Given the description of an element on the screen output the (x, y) to click on. 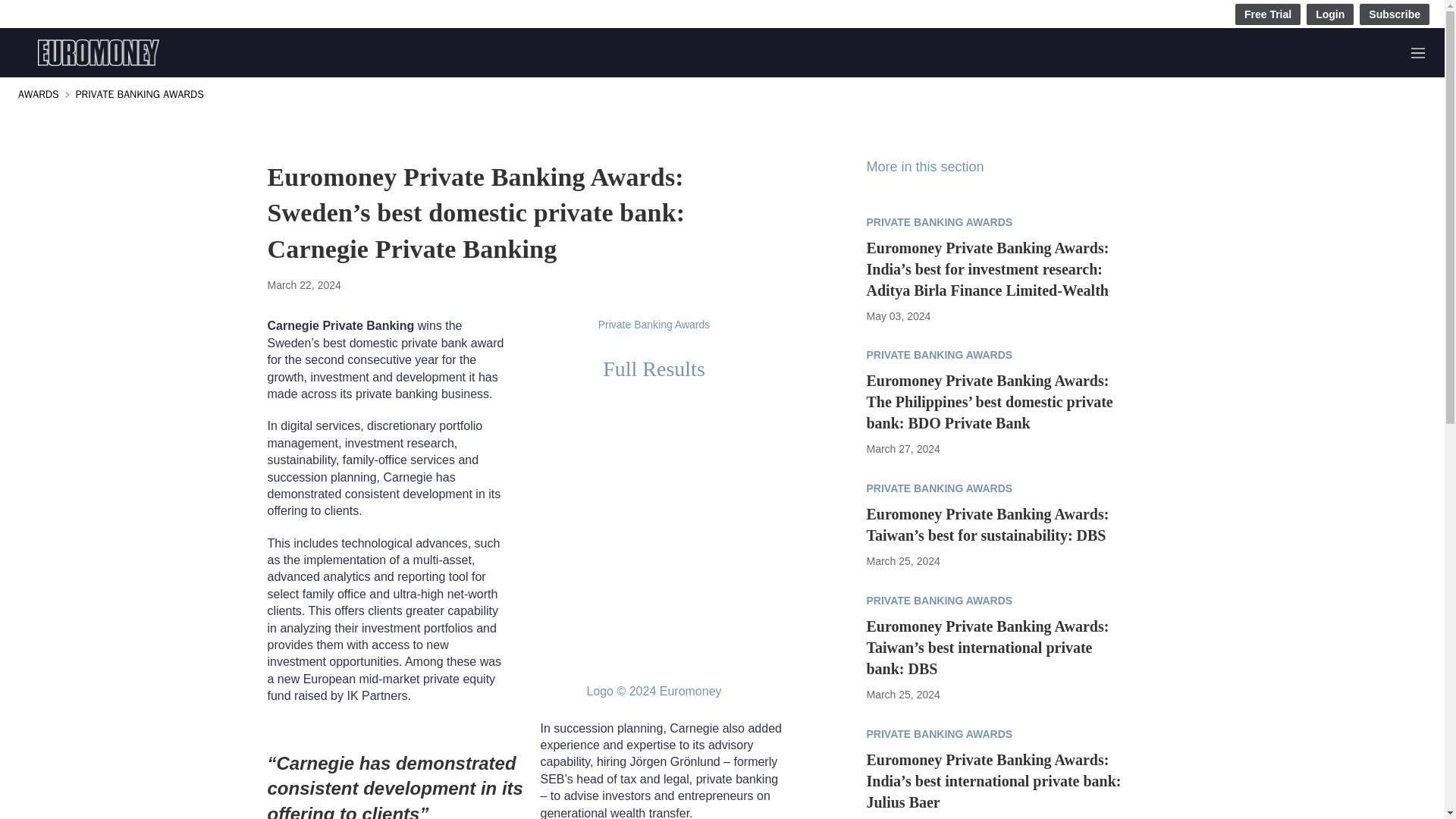
Login (1329, 13)
Free Trial (1267, 13)
PRIVATE BANKING AWARDS (139, 94)
Subscribe (1394, 13)
AWARDS (38, 94)
